Given the description of an element on the screen output the (x, y) to click on. 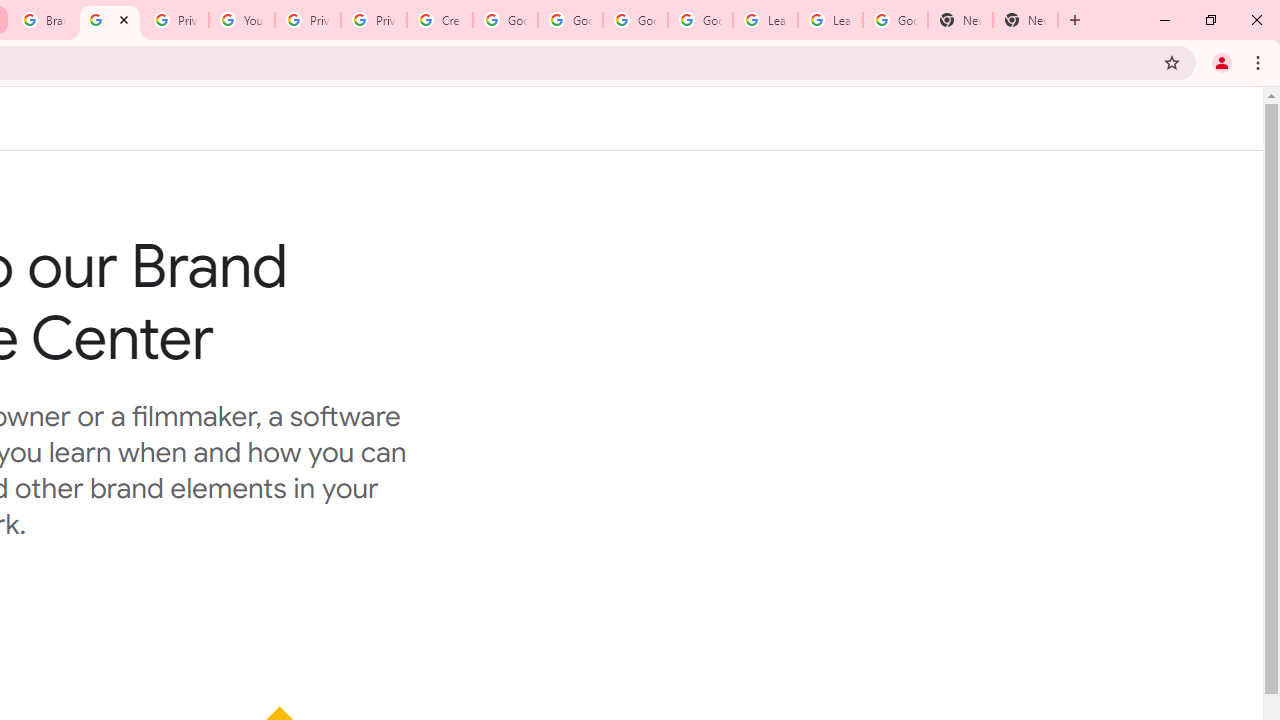
Create your Google Account (440, 20)
Google Account Help (504, 20)
YouTube (241, 20)
Brand Resource Center (109, 20)
